Given the description of an element on the screen output the (x, y) to click on. 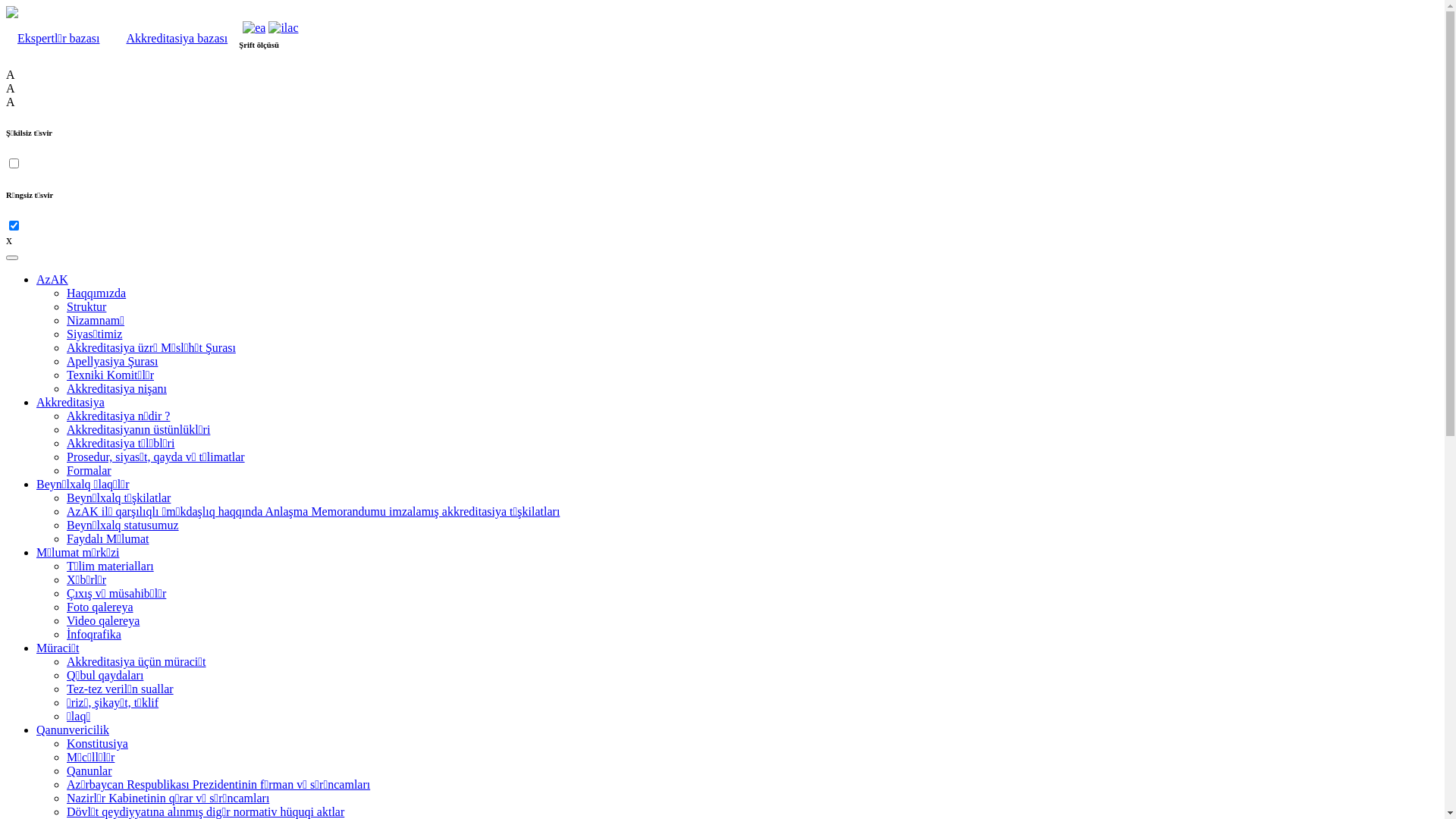
Konstitusiya Element type: text (97, 743)
Foto qalereya Element type: text (99, 606)
Video qalereya Element type: text (102, 620)
Qanunvericilik Element type: text (72, 729)
Formalar Element type: text (88, 470)
AzAK Element type: text (52, 279)
Struktur Element type: text (86, 306)
Akkreditasiya Element type: text (70, 401)
Qanunlar Element type: text (89, 770)
